Given the description of an element on the screen output the (x, y) to click on. 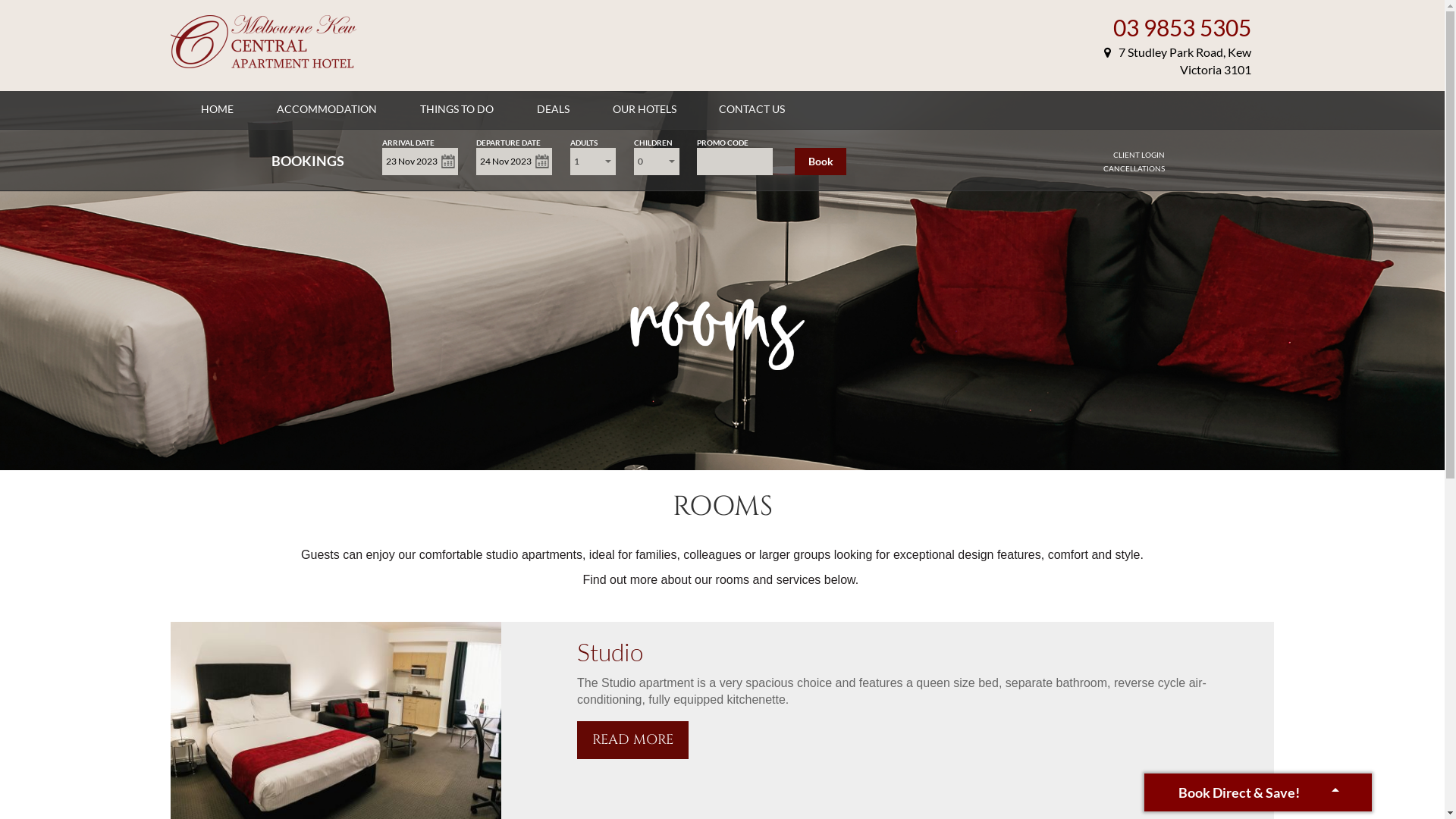
OUR HOTELS Element type: text (644, 109)
7 Studley Park Road, Kew
Victoria 3101 Element type: text (1177, 60)
DEALS Element type: text (552, 109)
Studio Element type: text (610, 651)
03 9853 5305 Element type: text (1182, 26)
ACCOMMODATION Element type: text (326, 109)
CANCELLATIONS Element type: text (1133, 167)
THINGS TO DO Element type: text (456, 109)
CLIENT LOGIN Element type: text (1138, 154)
CONTACT US Element type: text (751, 109)
HOME Element type: text (216, 109)
Book Element type: text (820, 161)
READ MORE Element type: text (632, 740)
